Given the description of an element on the screen output the (x, y) to click on. 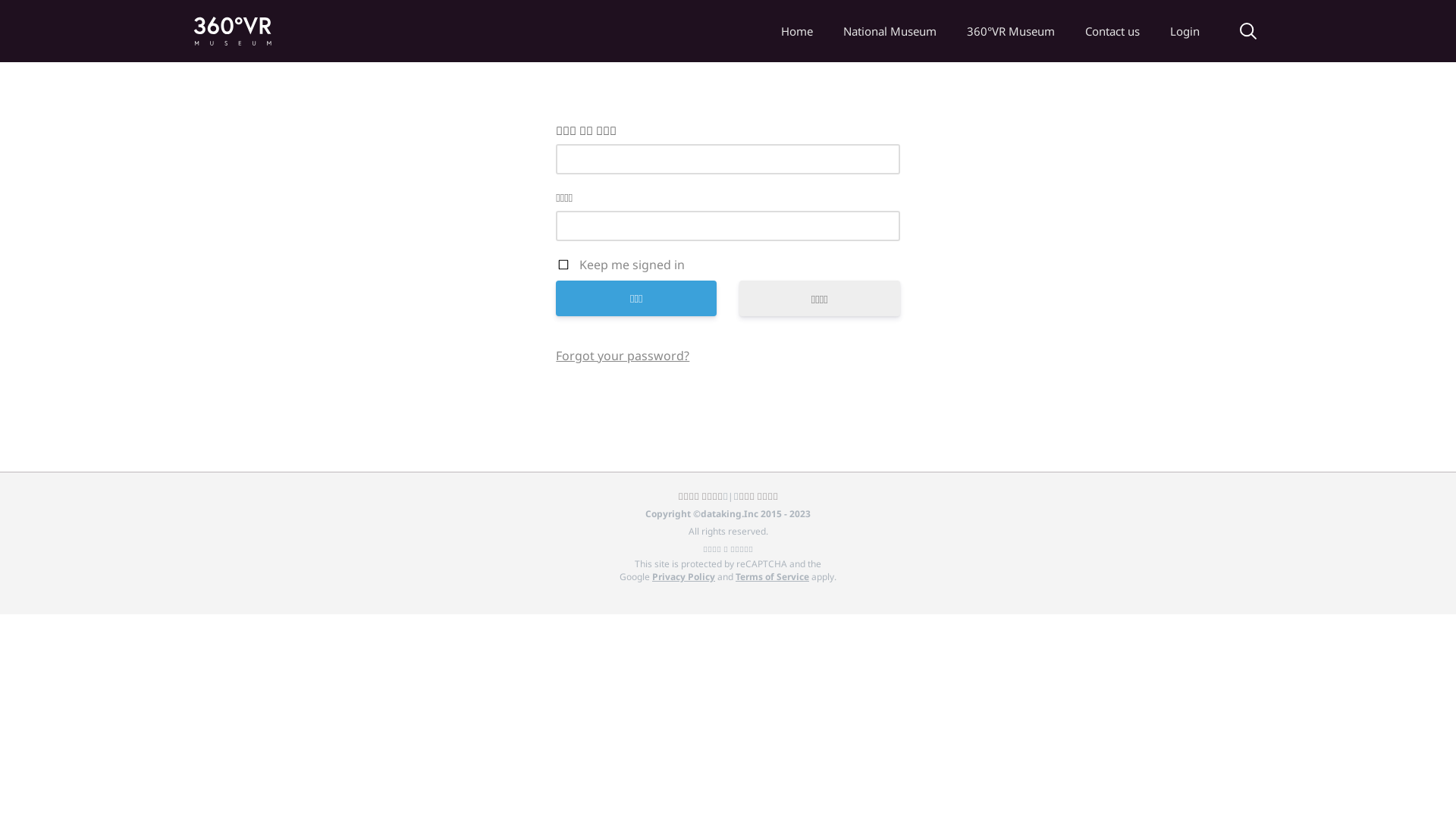
Home Element type: text (796, 31)
Login Element type: text (1184, 31)
Terms of Service Element type: text (772, 576)
National Museum Element type: text (889, 31)
Forgot your password? Element type: text (622, 355)
Contact us Element type: text (1112, 31)
Privacy Policy Element type: text (683, 576)
